Given the description of an element on the screen output the (x, y) to click on. 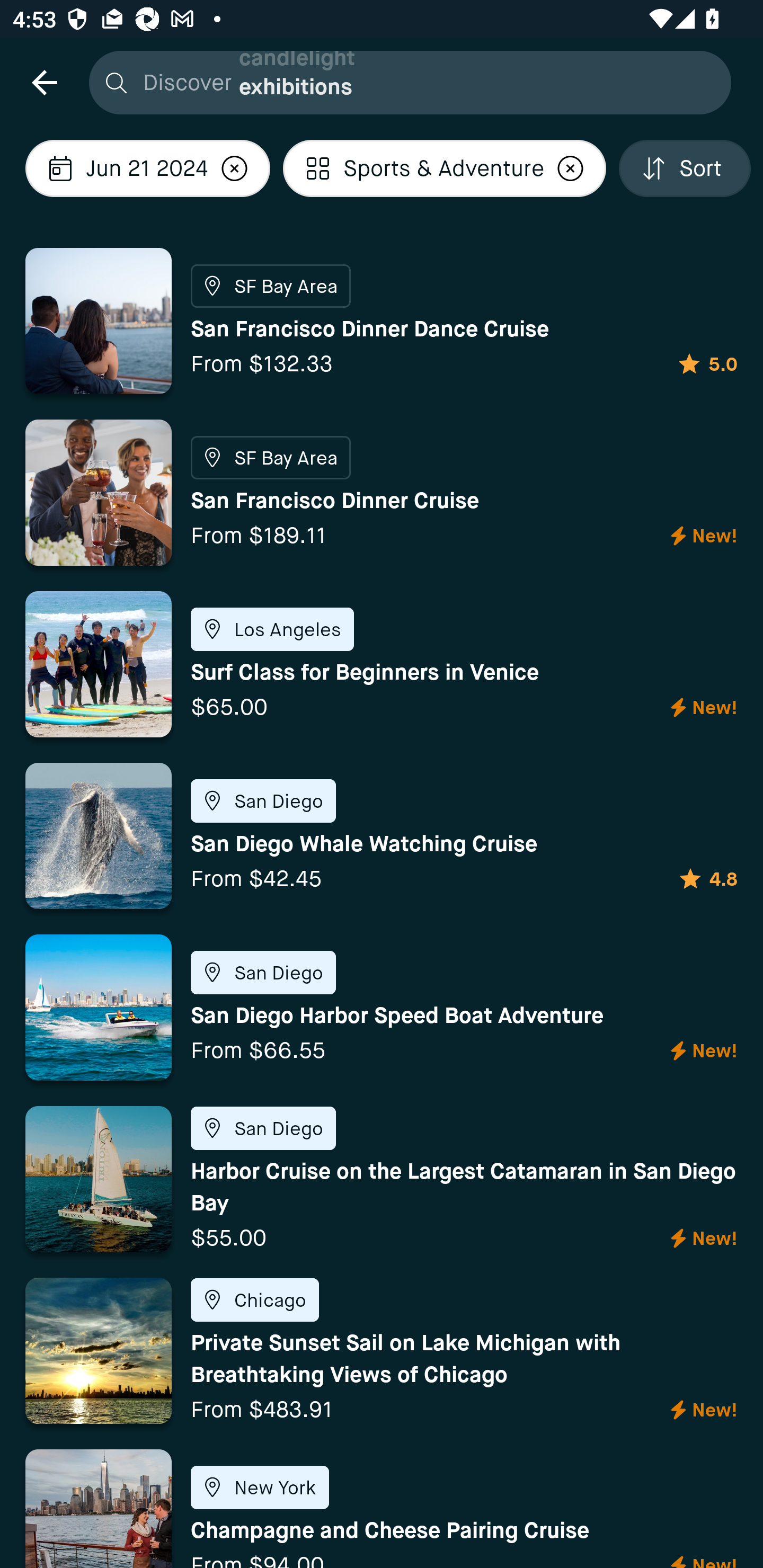
navigation icon (44, 81)
Discover candlelight exhibitions (405, 81)
Localized description (234, 168)
Localized description (570, 168)
Localized description Sort (684, 168)
